Given the description of an element on the screen output the (x, y) to click on. 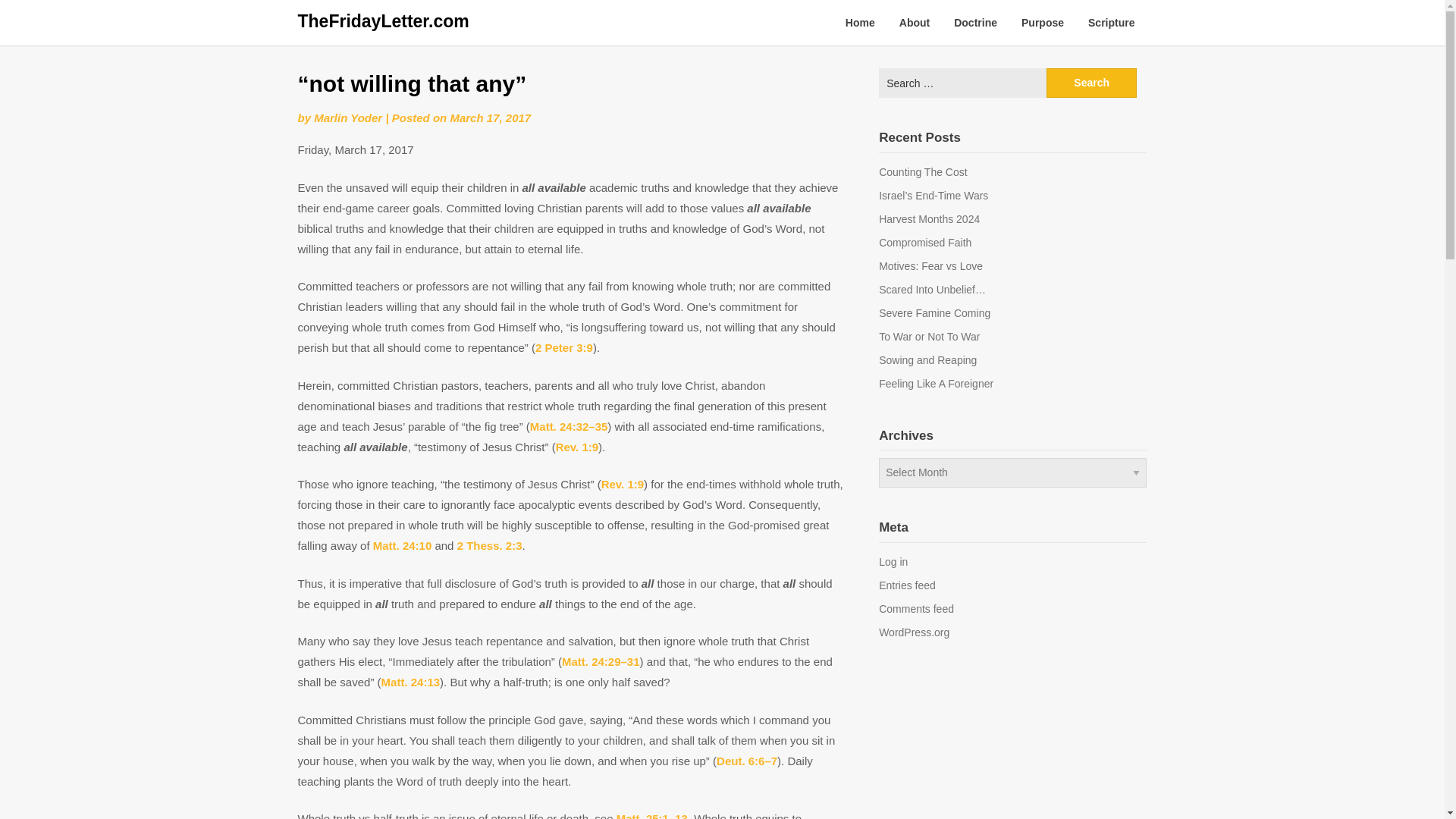
Matt. 24:10 (402, 545)
March 17, 2017 (490, 117)
Rev. 1:9 (622, 483)
Harvest Months 2024 (929, 218)
2 Thess. 2:3 (489, 545)
About (914, 22)
2 Peter 3:9 (563, 347)
Matt. 24:13 (411, 681)
Search (1091, 82)
Scripture (1111, 22)
